Given the description of an element on the screen output the (x, y) to click on. 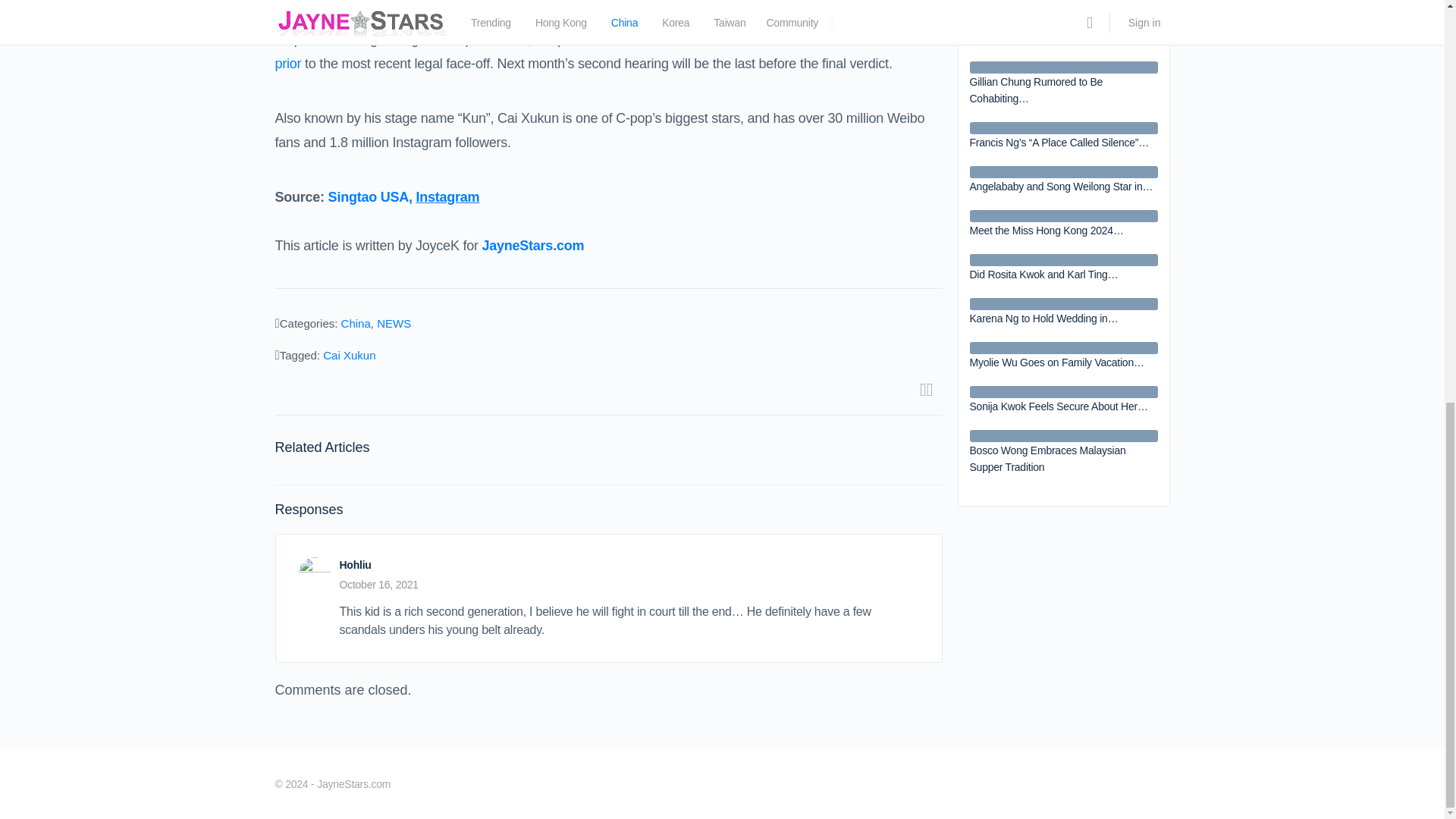
Singtao USA, Instagram (404, 196)
sued the star numerous times prior (601, 51)
